Given the description of an element on the screen output the (x, y) to click on. 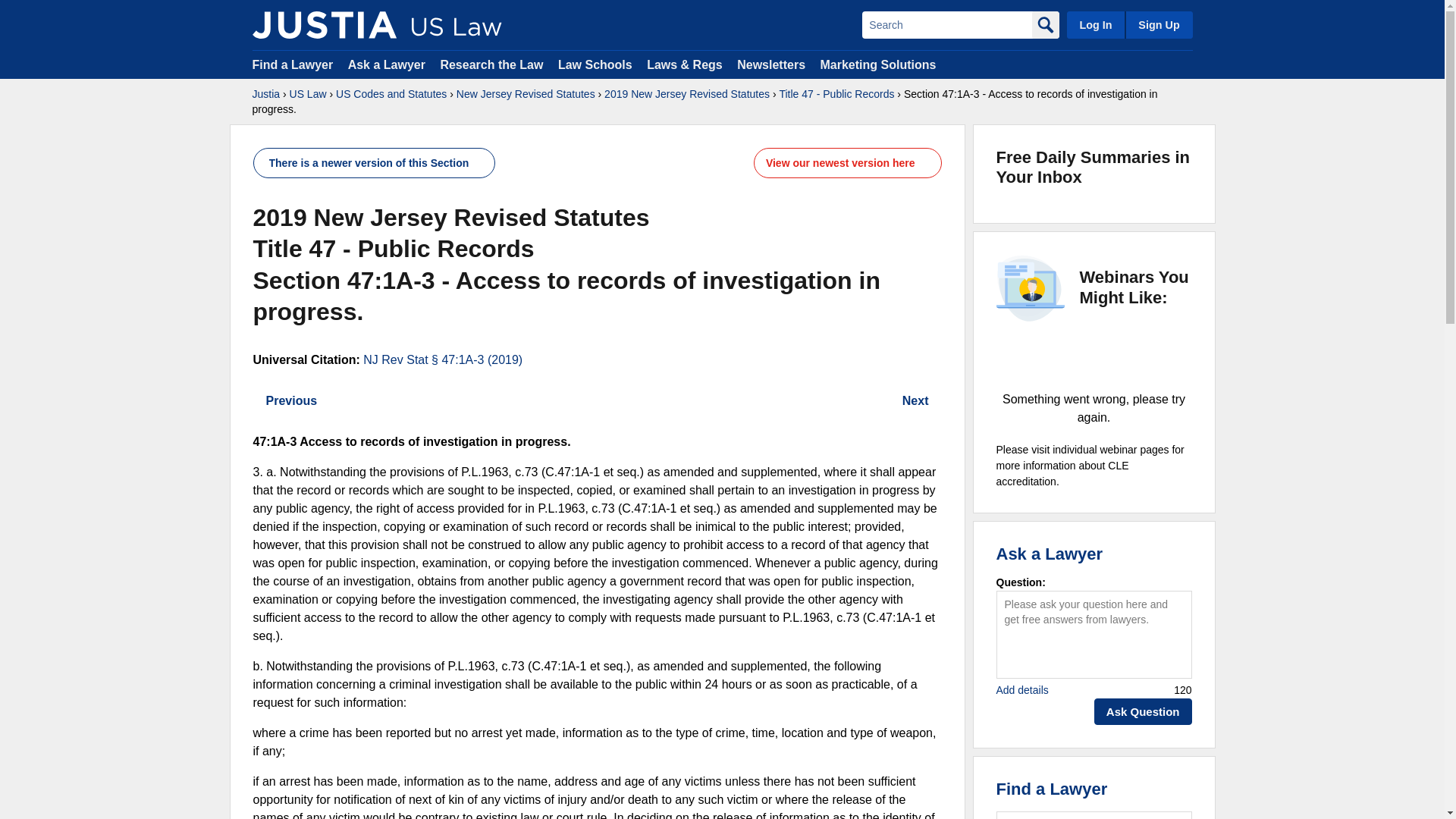
2019 New Jersey Revised Statutes (687, 93)
Law Schools (594, 64)
Search (945, 24)
Title 47 - Public Records (835, 93)
down (480, 162)
right (937, 400)
down (926, 162)
Research the Law (491, 64)
Justia (265, 93)
Newsletters (770, 64)
US Law (307, 93)
Find a Lawyer (292, 64)
US Codes and Statutes (391, 93)
Justia (323, 24)
Ask a Lawyer (388, 64)
